Given the description of an element on the screen output the (x, y) to click on. 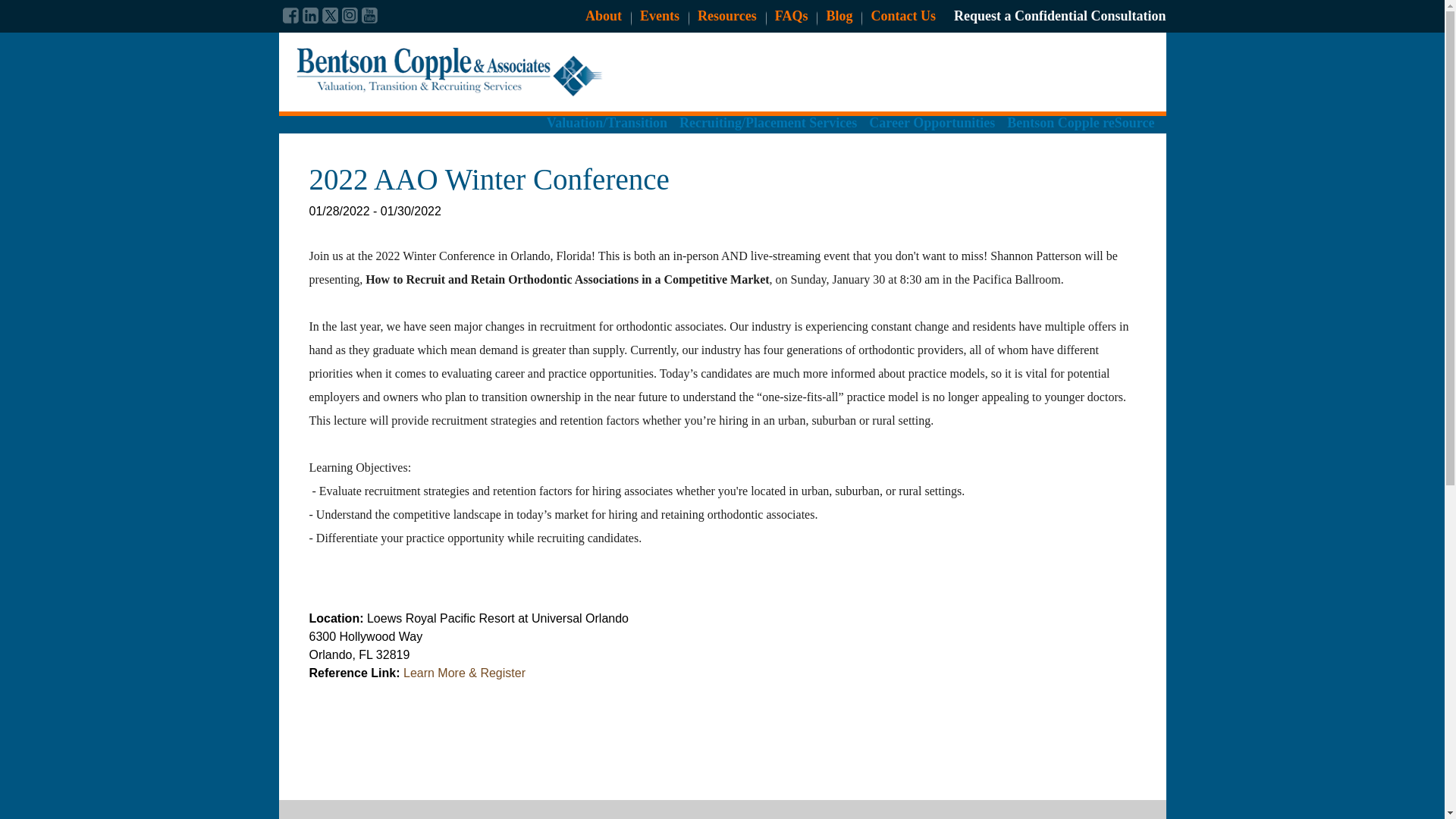
Blog (838, 15)
Career Opportunities (931, 129)
Page 1 (721, 582)
Events (659, 15)
About (603, 15)
FAQs (791, 15)
Contact Us (903, 15)
Request a Confidential Consultation (1059, 15)
Bentson Copple reSource (1080, 129)
Resources (727, 15)
